Given the description of an element on the screen output the (x, y) to click on. 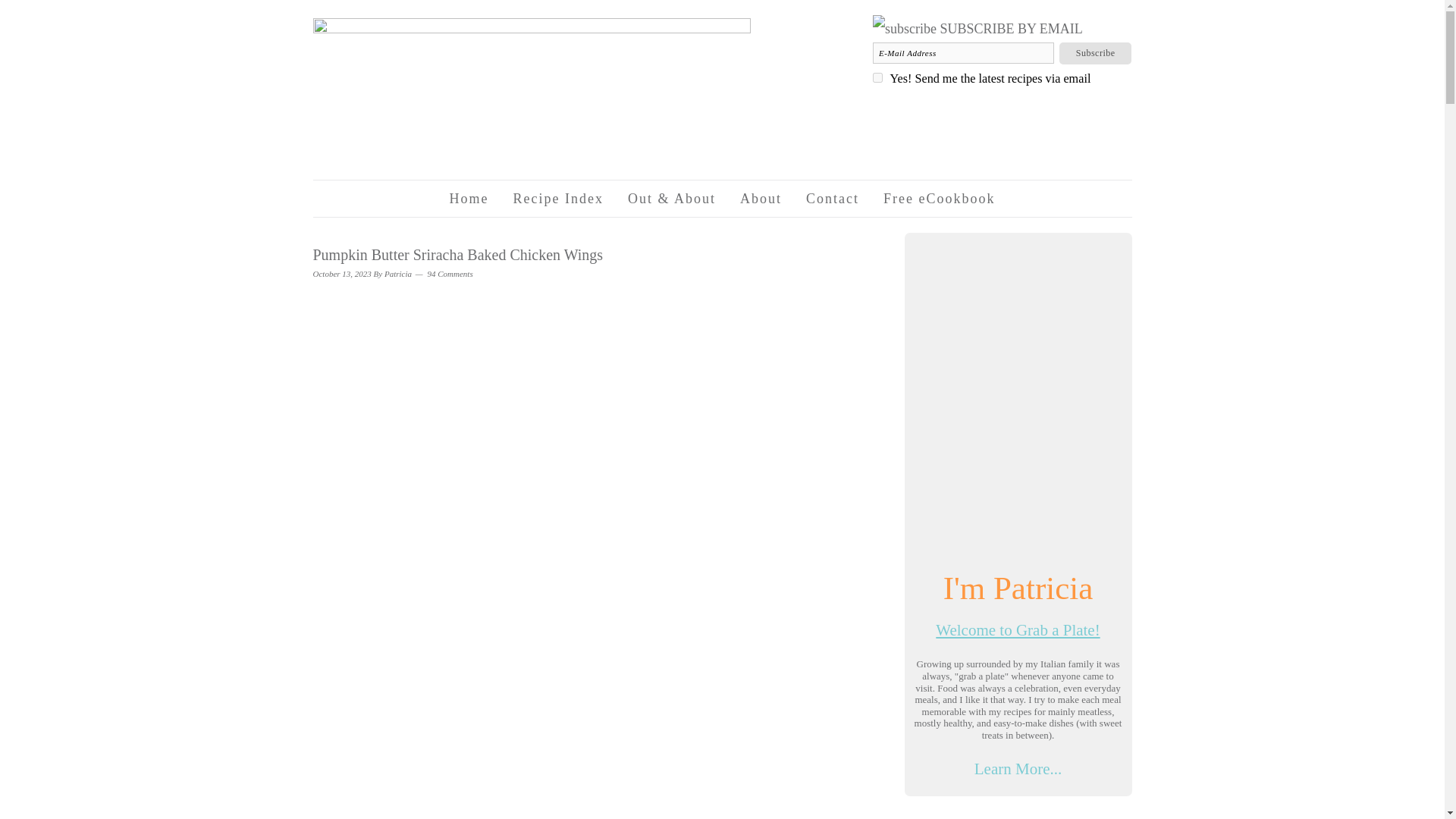
Pumpkin Butter Sriracha Baked Chicken Wings (457, 254)
About (761, 198)
Subscribe (1095, 53)
Contact (832, 198)
Free eCookbook (939, 198)
Home (469, 198)
1 (877, 77)
Patricia (398, 273)
Recipe Index (558, 198)
94 Comments (450, 273)
Subscribe (1095, 53)
